Given the description of an element on the screen output the (x, y) to click on. 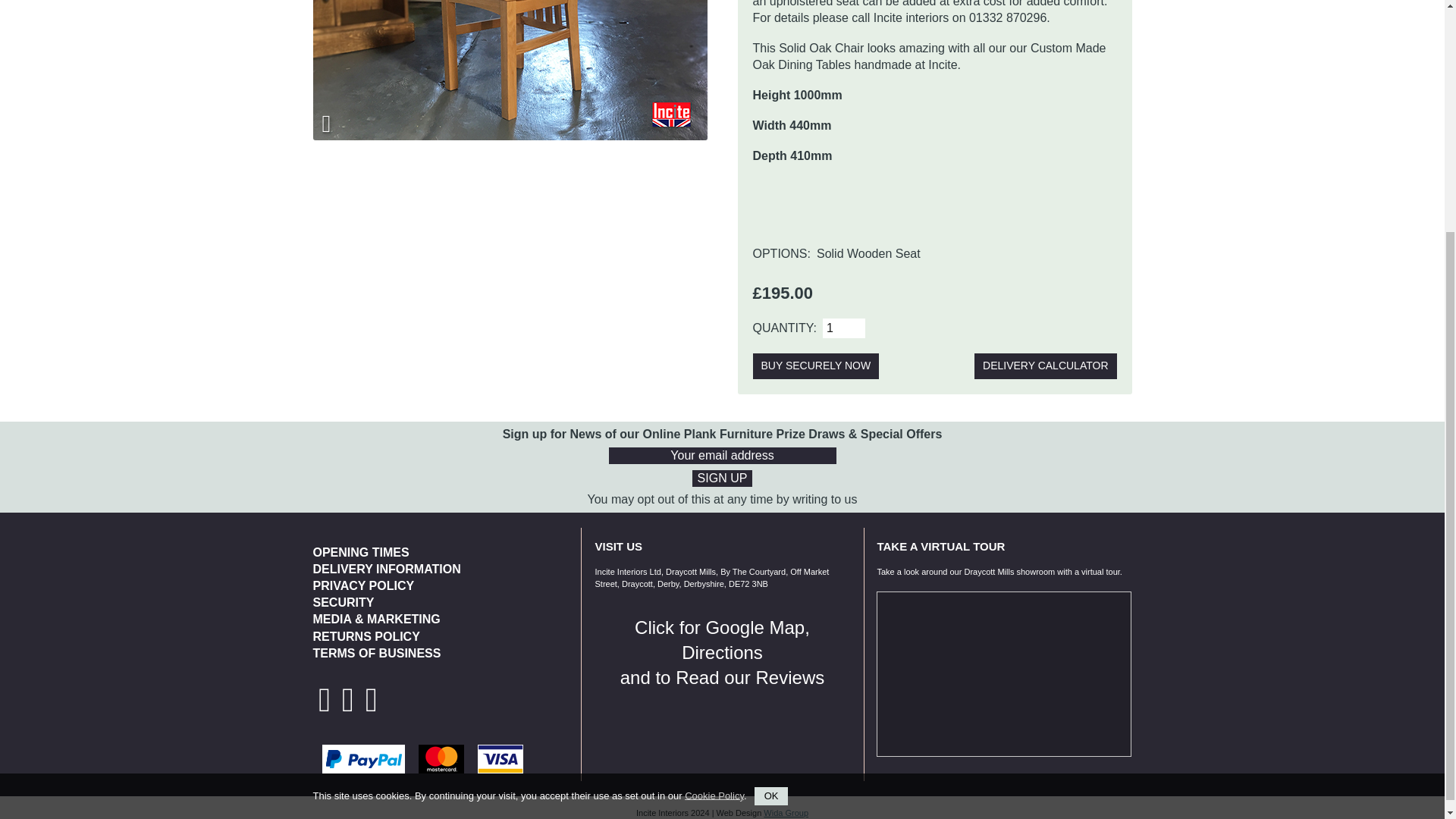
OPENING TIMES (361, 552)
1 (843, 328)
PRIVACY POLICY (363, 585)
Buy Securely Now (815, 365)
SECURITY (343, 602)
TERMS OF BUSINESS (377, 653)
Delivery Calculator (1045, 365)
Sign Up (722, 478)
RETURNS POLICY (366, 635)
Buy Securely Now (815, 365)
Sign Up (722, 478)
DELIVERY INFORMATION (722, 652)
